Given the description of an element on the screen output the (x, y) to click on. 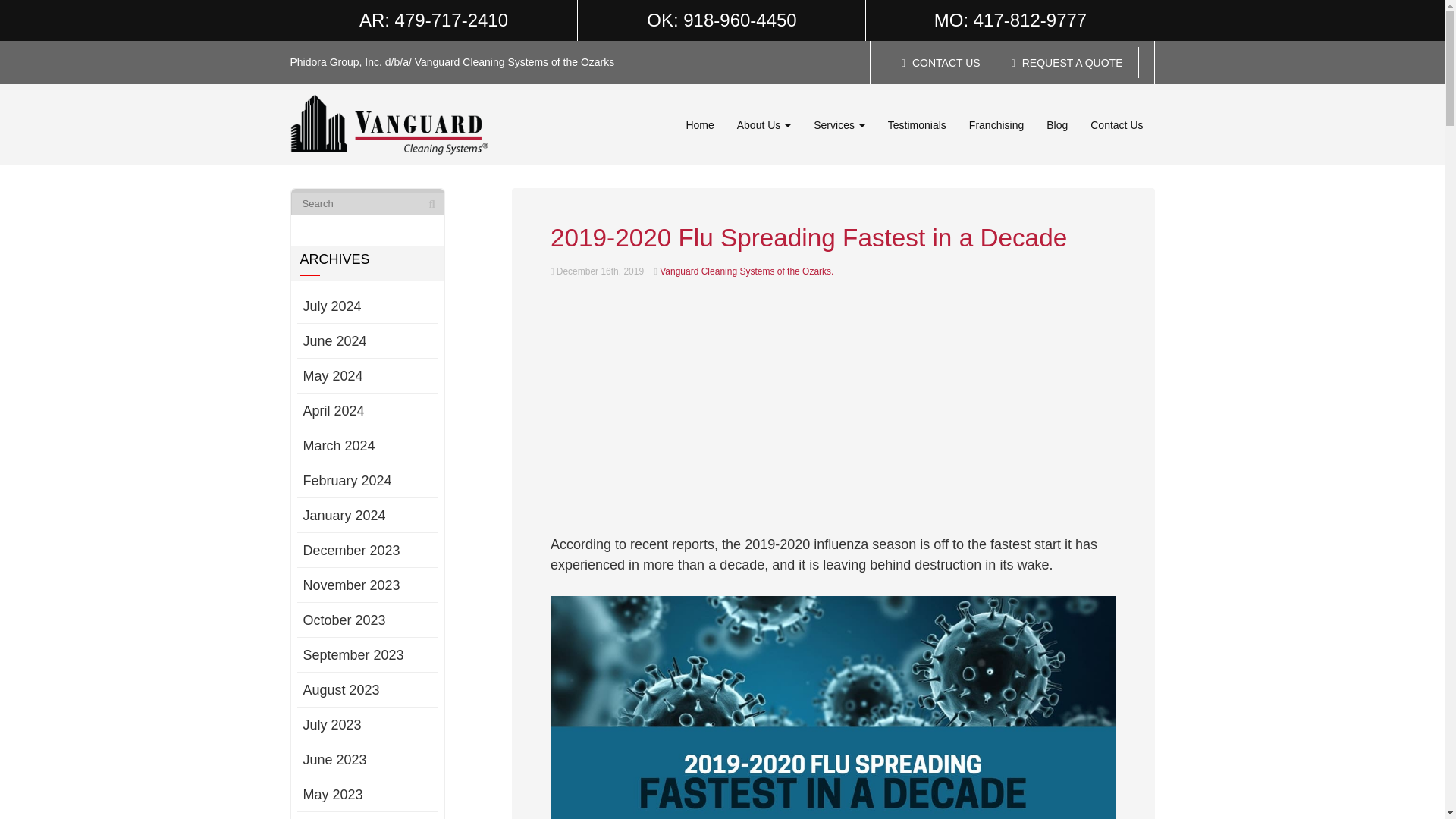
Testimonials (917, 124)
Home (699, 124)
918-960-4450 (739, 19)
About Us (763, 124)
REQUEST A QUOTE (1066, 61)
479-717-2410 (451, 19)
CONTACT US (940, 61)
Services (839, 124)
417-812-9777 (1030, 19)
Contact Us (1116, 124)
Franchising (996, 124)
Blog (1056, 124)
Posts by Vanguard Cleaning Systems of the Ozarks. (745, 270)
